Given the description of an element on the screen output the (x, y) to click on. 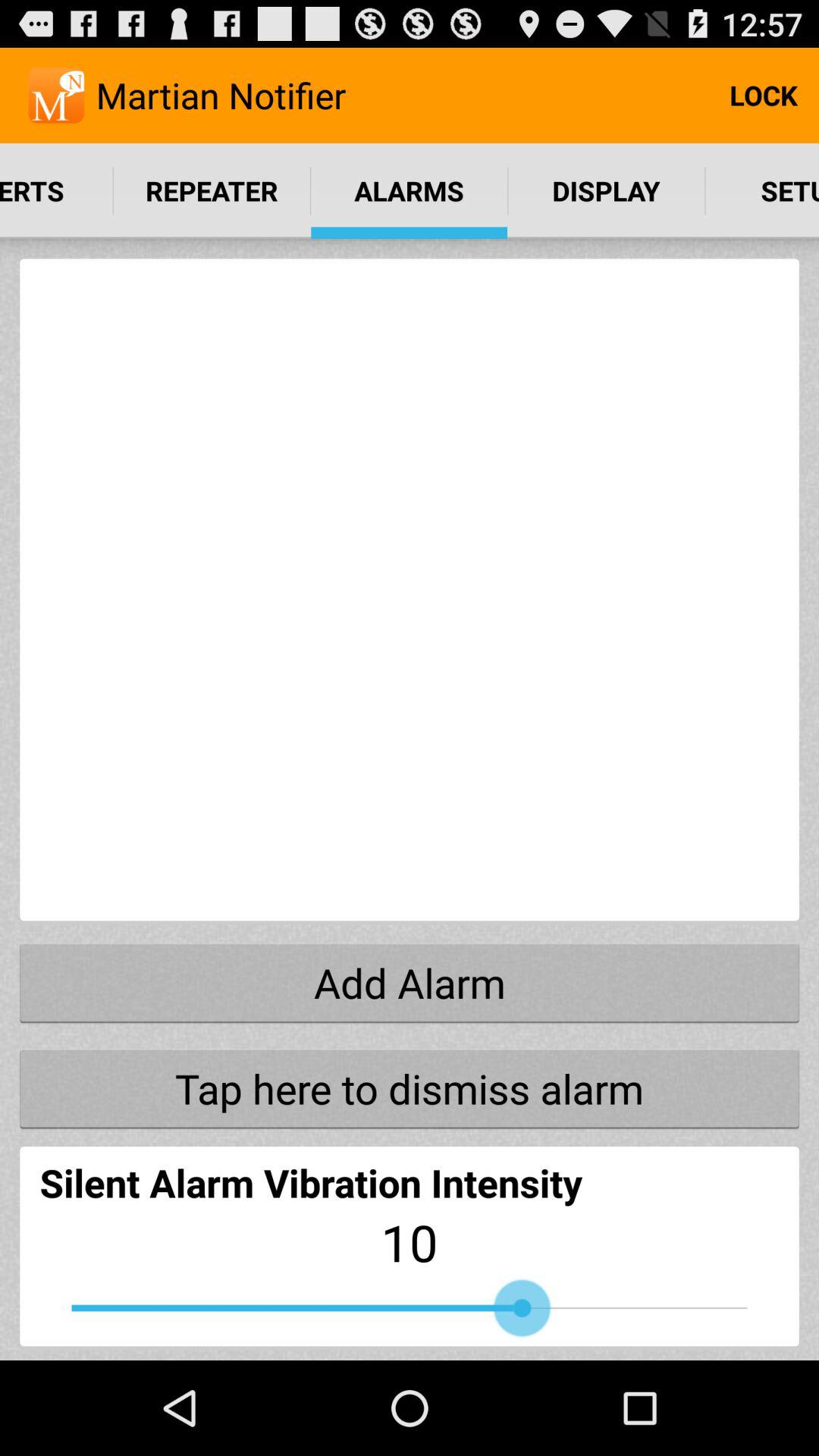
turn off the item above setup app (763, 95)
